Given the description of an element on the screen output the (x, y) to click on. 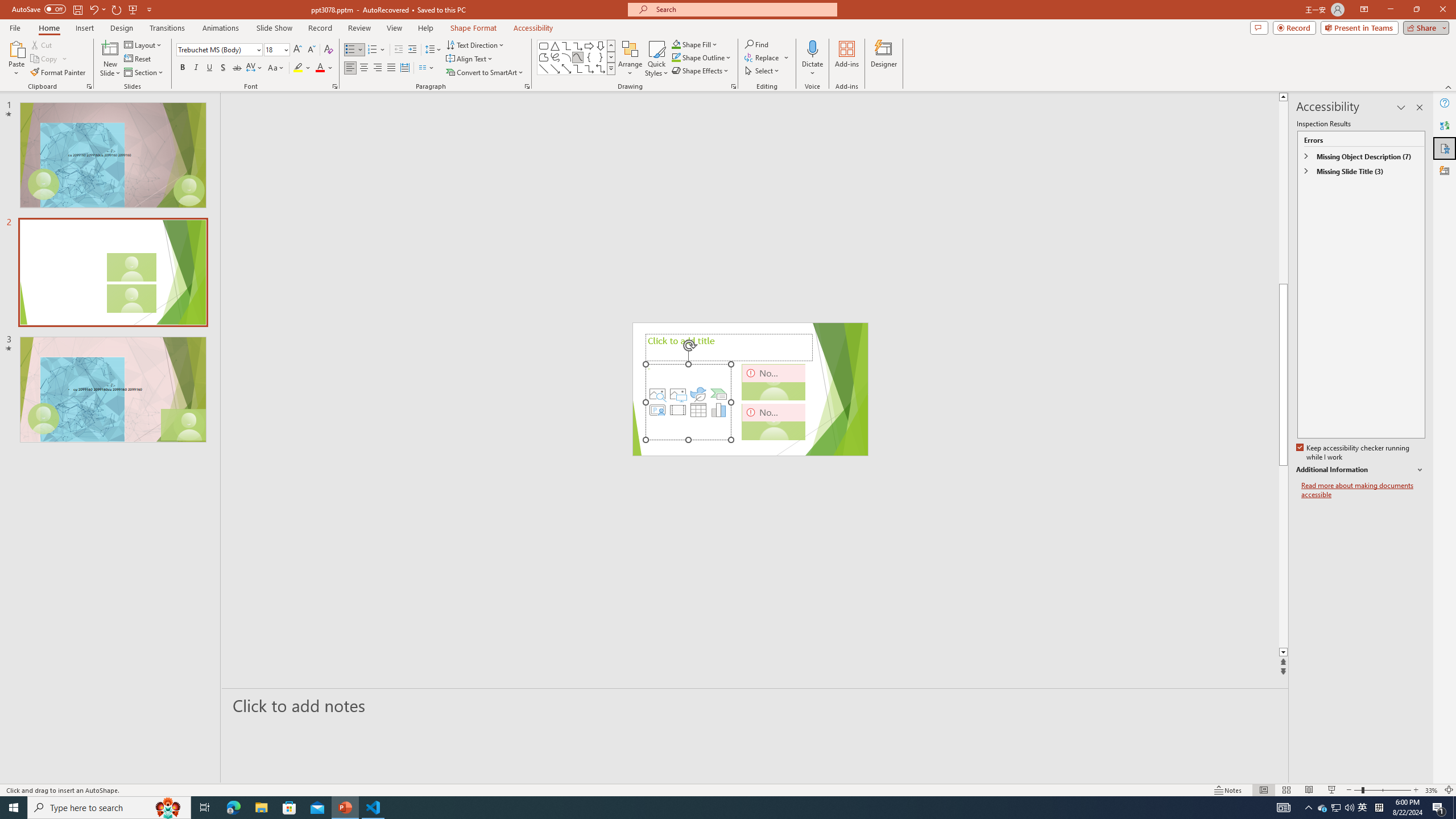
Zoom 33% (1431, 790)
Line Arrow: Double (566, 68)
